Given the description of an element on the screen output the (x, y) to click on. 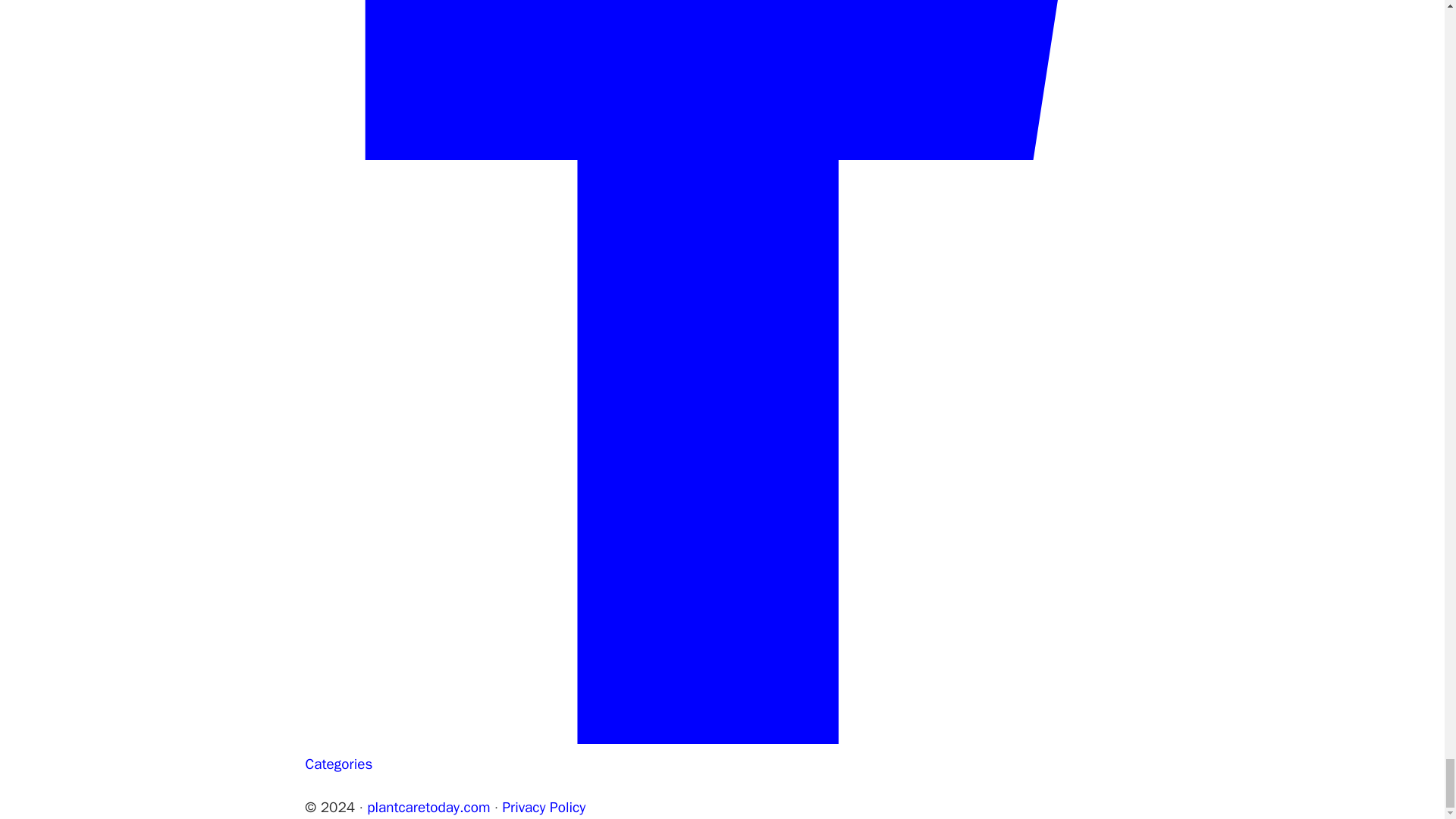
plantcaretoday.com (427, 807)
Privacy Policy (543, 807)
Categories (338, 764)
